Given the description of an element on the screen output the (x, y) to click on. 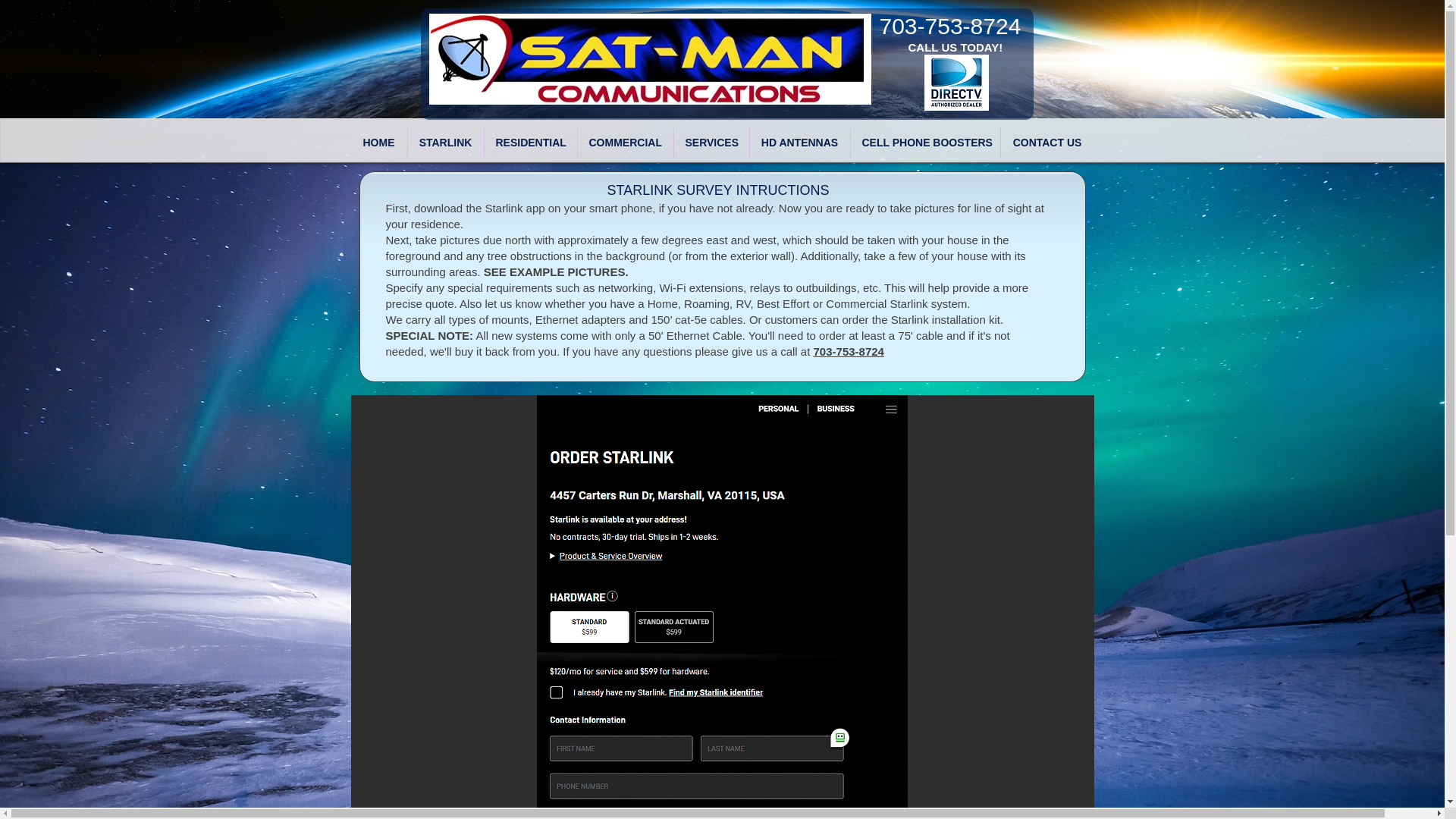
SERVICES (710, 142)
CONTACT US (1047, 142)
703-753-8724 (848, 350)
703-753-8724 (950, 25)
HOME (378, 142)
HD ANTENNAS (798, 142)
